Given the description of an element on the screen output the (x, y) to click on. 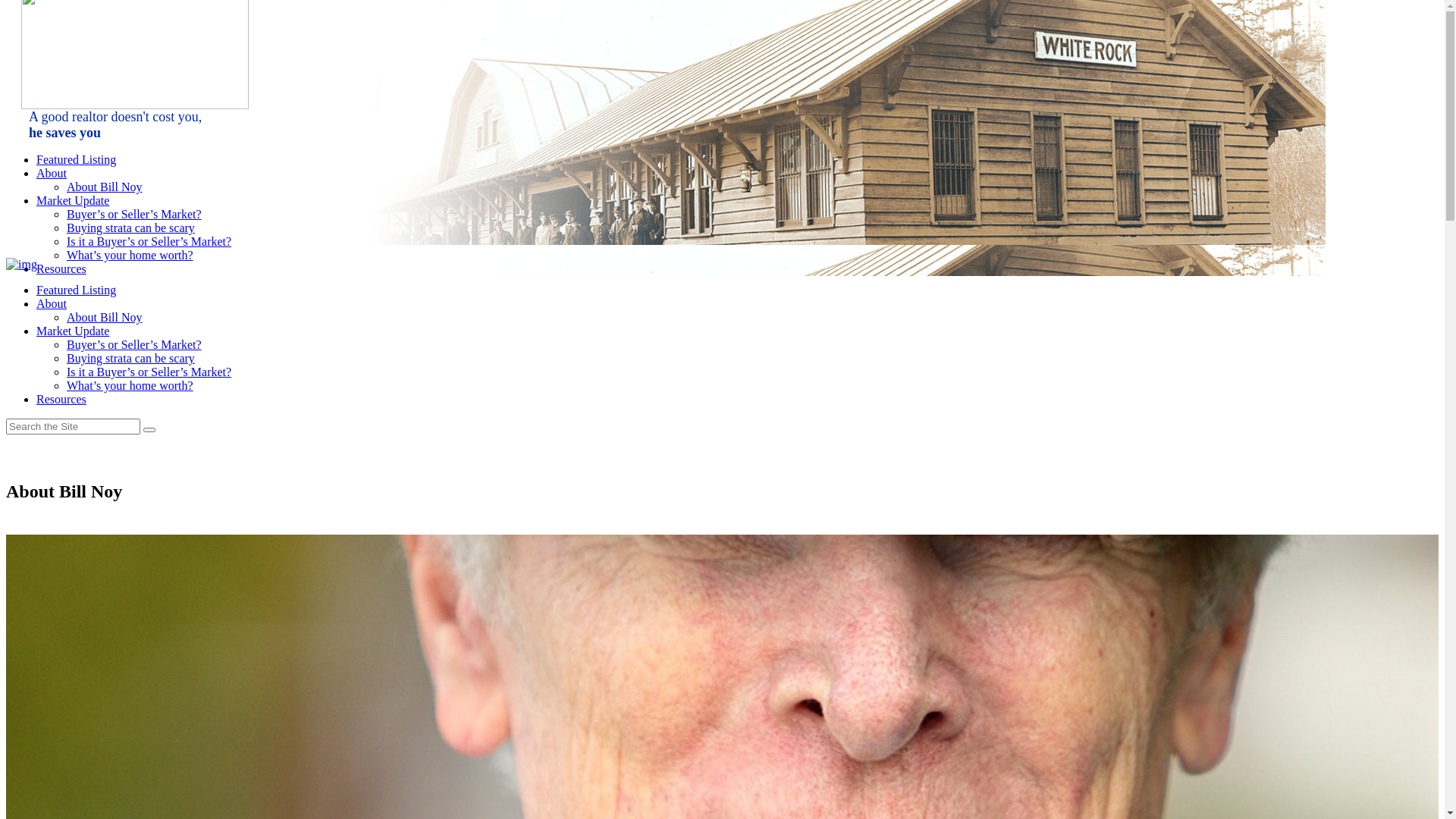
Market Update Element type: text (72, 200)
Resources Element type: text (61, 398)
Resources Element type: text (61, 268)
About Element type: text (51, 303)
About Element type: text (51, 172)
Market Update Element type: text (72, 330)
About Bill Noy Element type: text (104, 186)
Featured Listing Element type: text (76, 289)
Featured Listing Element type: text (76, 159)
Buying strata can be scary Element type: text (130, 357)
Buying strata can be scary Element type: text (130, 227)
About Bill Noy Element type: text (104, 316)
